Given the description of an element on the screen output the (x, y) to click on. 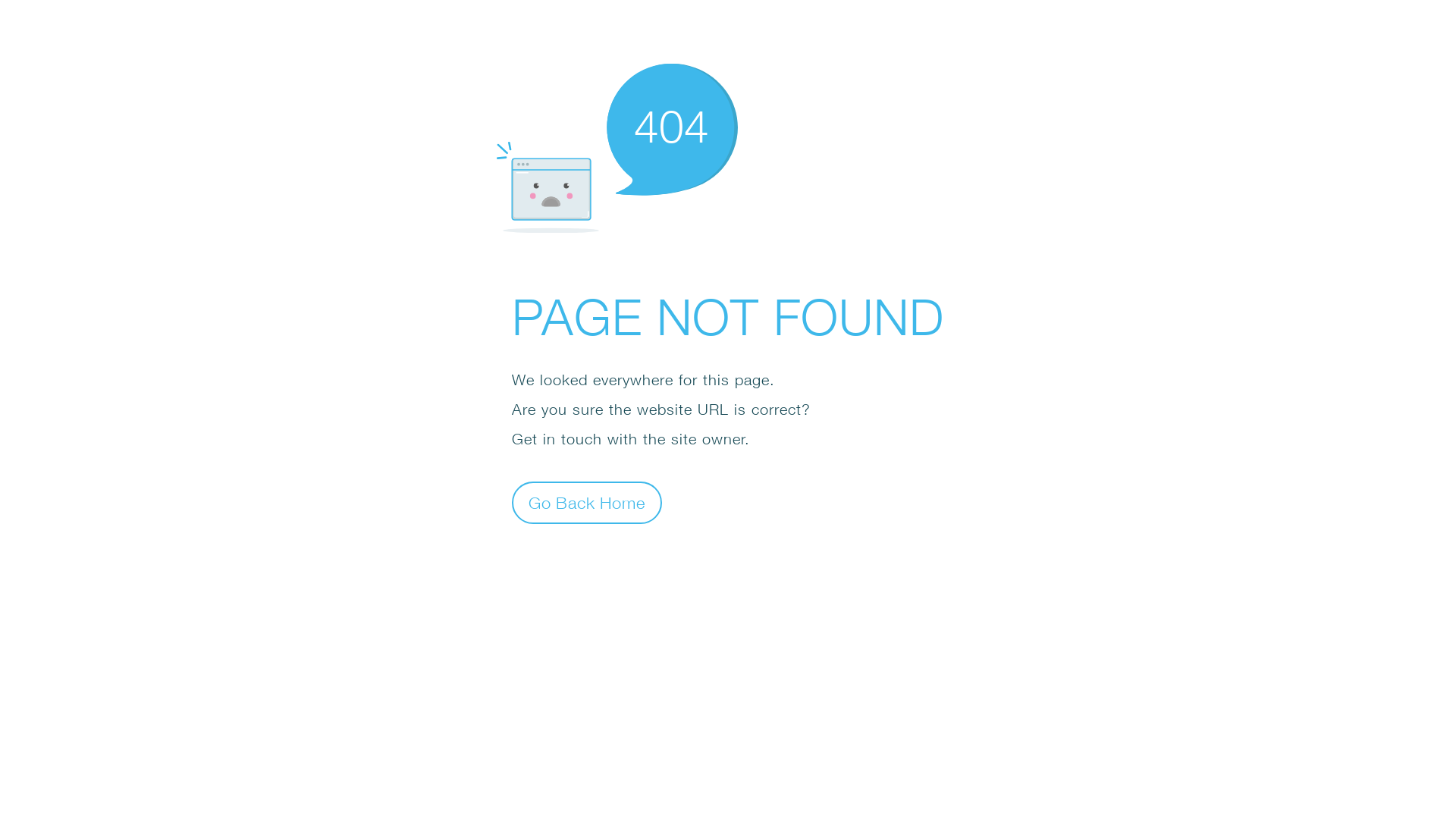
Go Back Home Element type: text (586, 502)
